Given the description of an element on the screen output the (x, y) to click on. 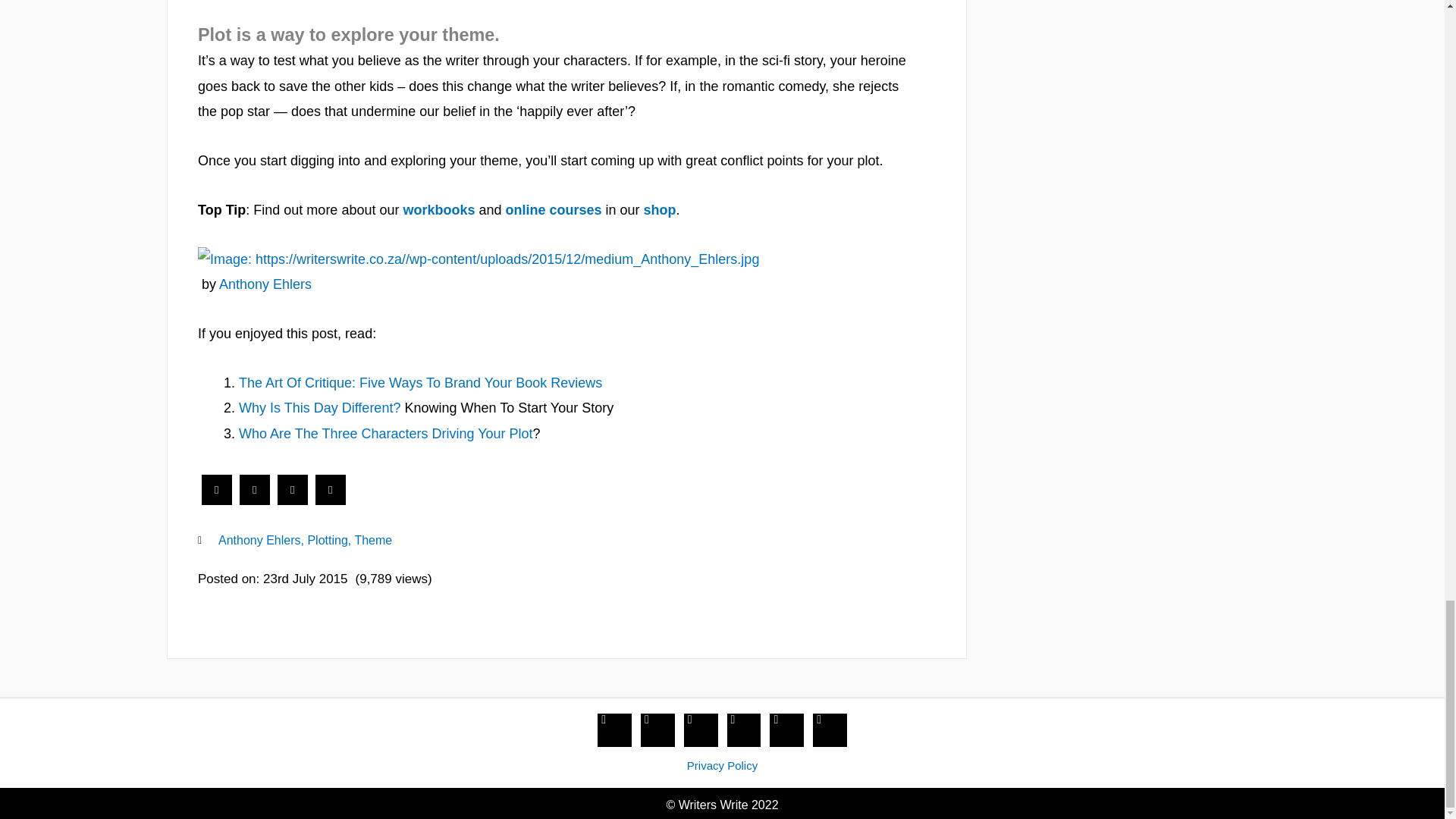
Share on Facebook (216, 500)
Share on Pinterest (330, 500)
Share to LinkedIn (292, 500)
Share on Twitter (254, 500)
